Given the description of an element on the screen output the (x, y) to click on. 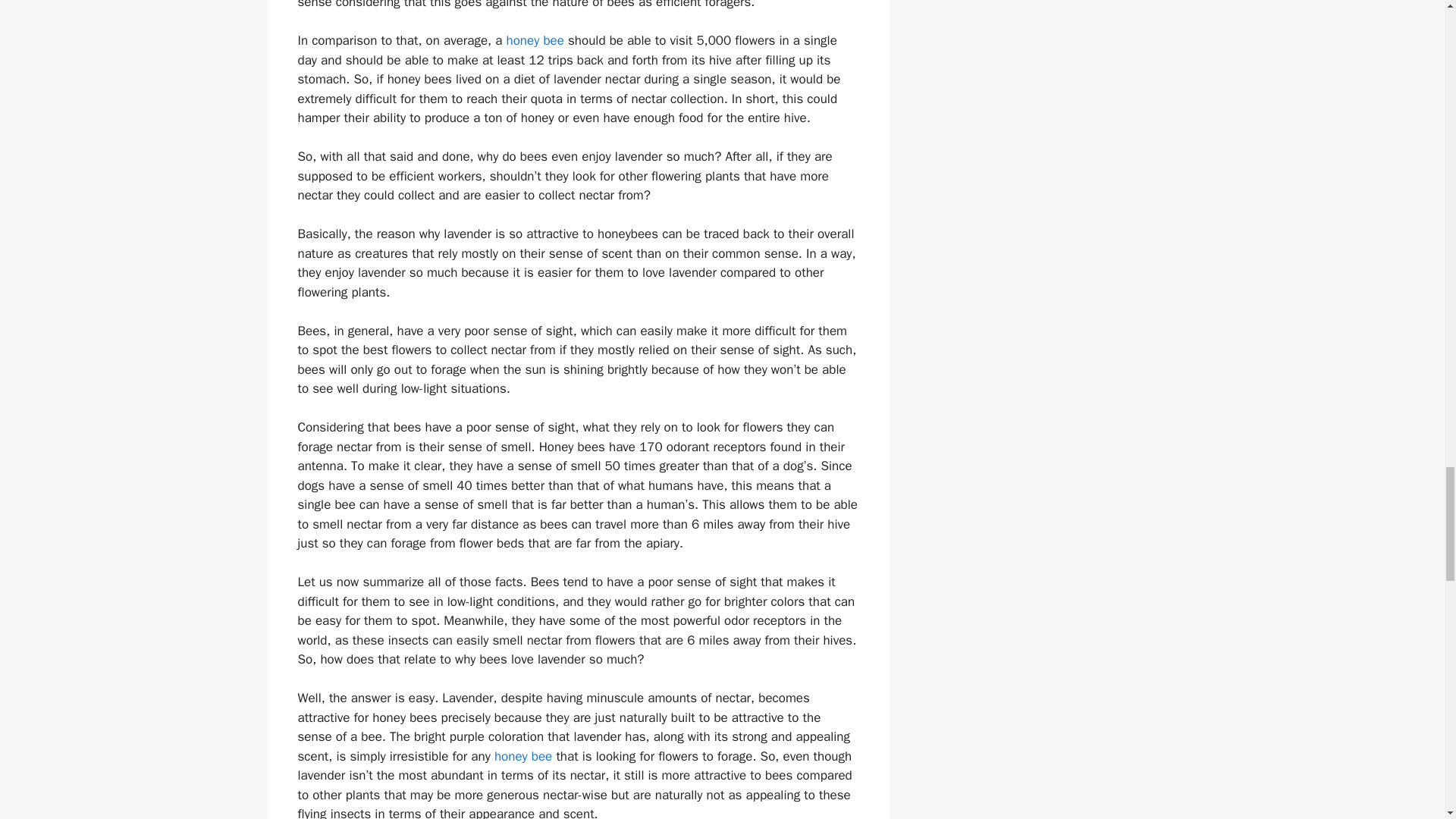
honey bee (535, 40)
honey bee (523, 756)
honey bee (535, 40)
honey bee (523, 756)
